Given the description of an element on the screen output the (x, y) to click on. 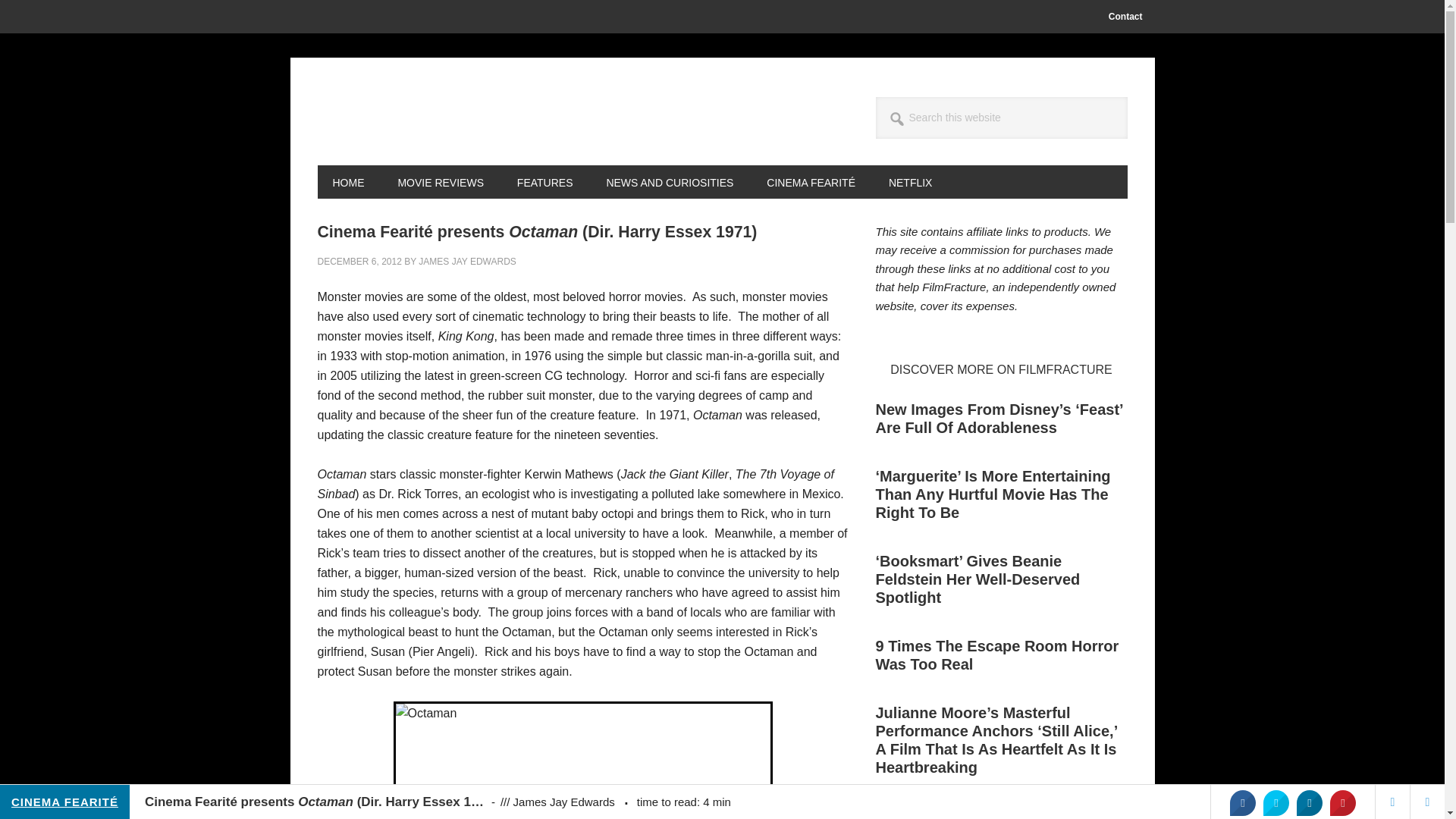
Share on Twitter (1275, 802)
Share on Pinterest (1342, 802)
Octaman (582, 760)
Share on Facebook (1242, 802)
JAMES JAY EDWARDS (467, 261)
MOVIE REVIEWS (440, 182)
FEATURES (545, 182)
9 Times The Escape Room Horror Was Too Real (996, 655)
NEWS AND CURIOSITIES (669, 182)
